Given the description of an element on the screen output the (x, y) to click on. 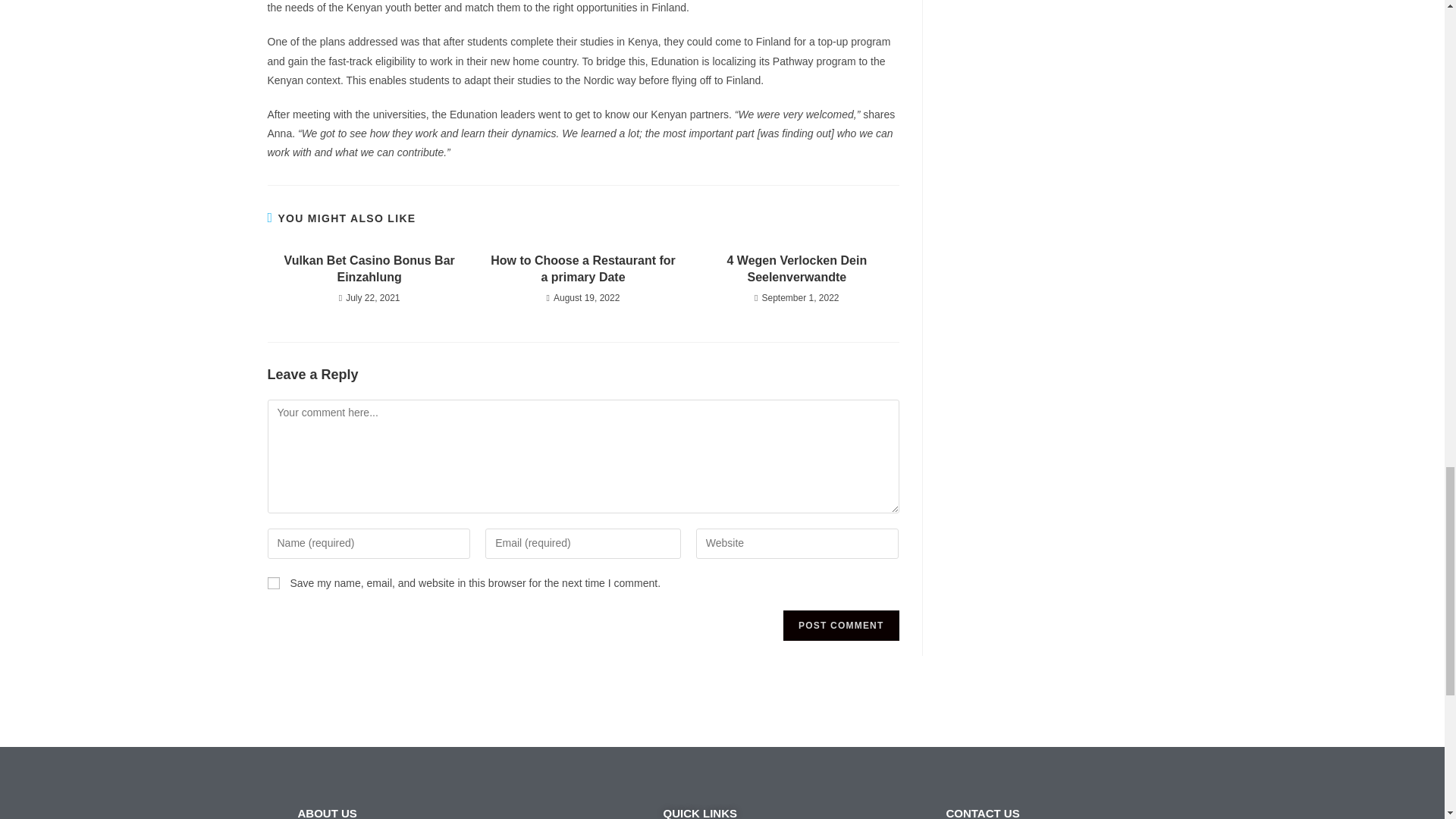
How to Choose a Restaurant for a primary Date (582, 269)
Post Comment (840, 625)
Post Comment (840, 625)
yes (272, 582)
4 Wegen Verlocken Dein Seelenverwandte (796, 269)
Vulkan Bet Casino Bonus Bar Einzahlung (368, 269)
